Given the description of an element on the screen output the (x, y) to click on. 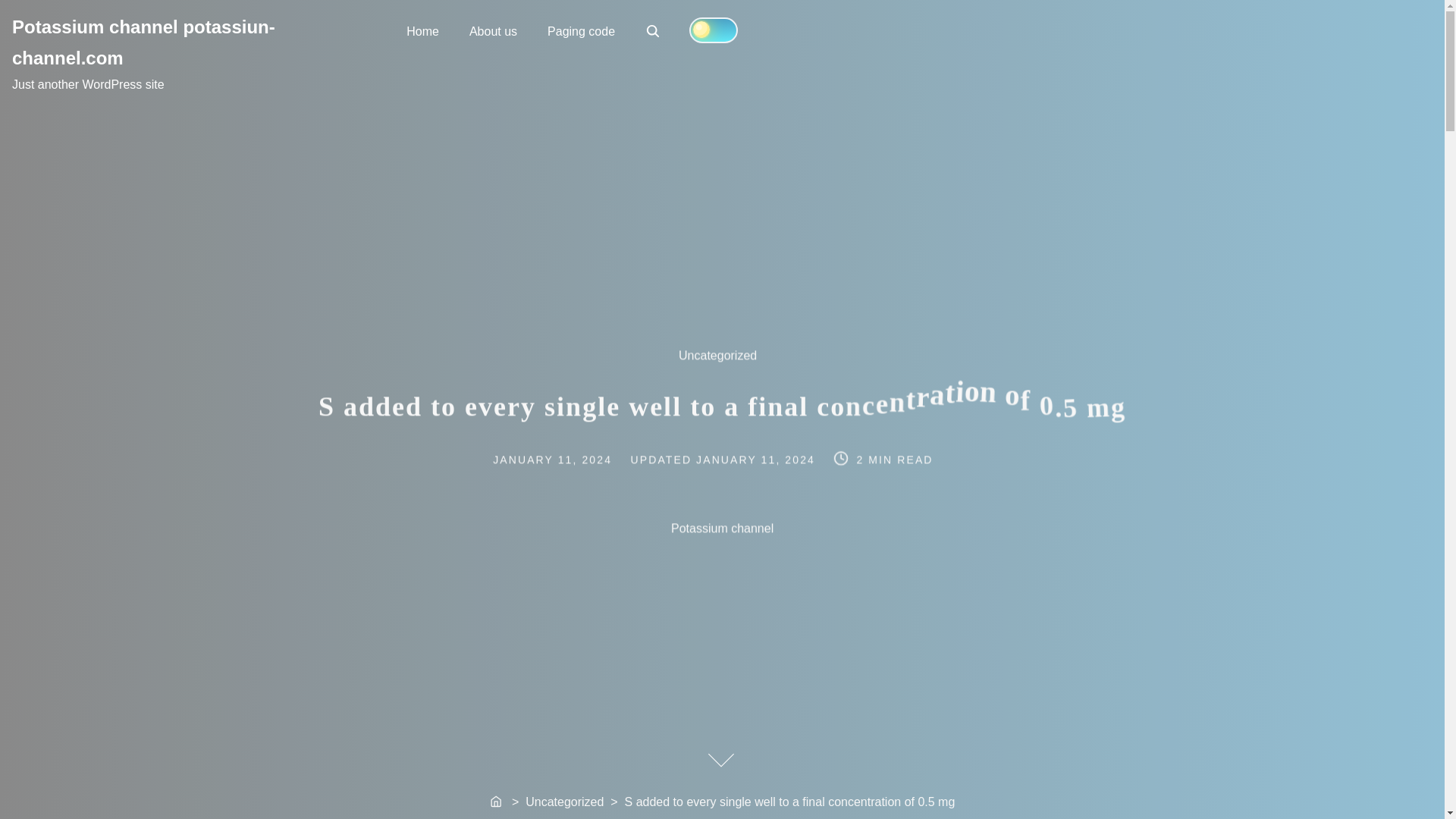
Home (422, 30)
Paging code (581, 30)
JANUARY 11, 2024 (654, 31)
Potassium channel potassiun-channel.com (568, 458)
Home (143, 41)
About us (497, 802)
JANUARY 11, 2024 (493, 30)
Search (756, 458)
Uncategorized (653, 30)
